Given the description of an element on the screen output the (x, y) to click on. 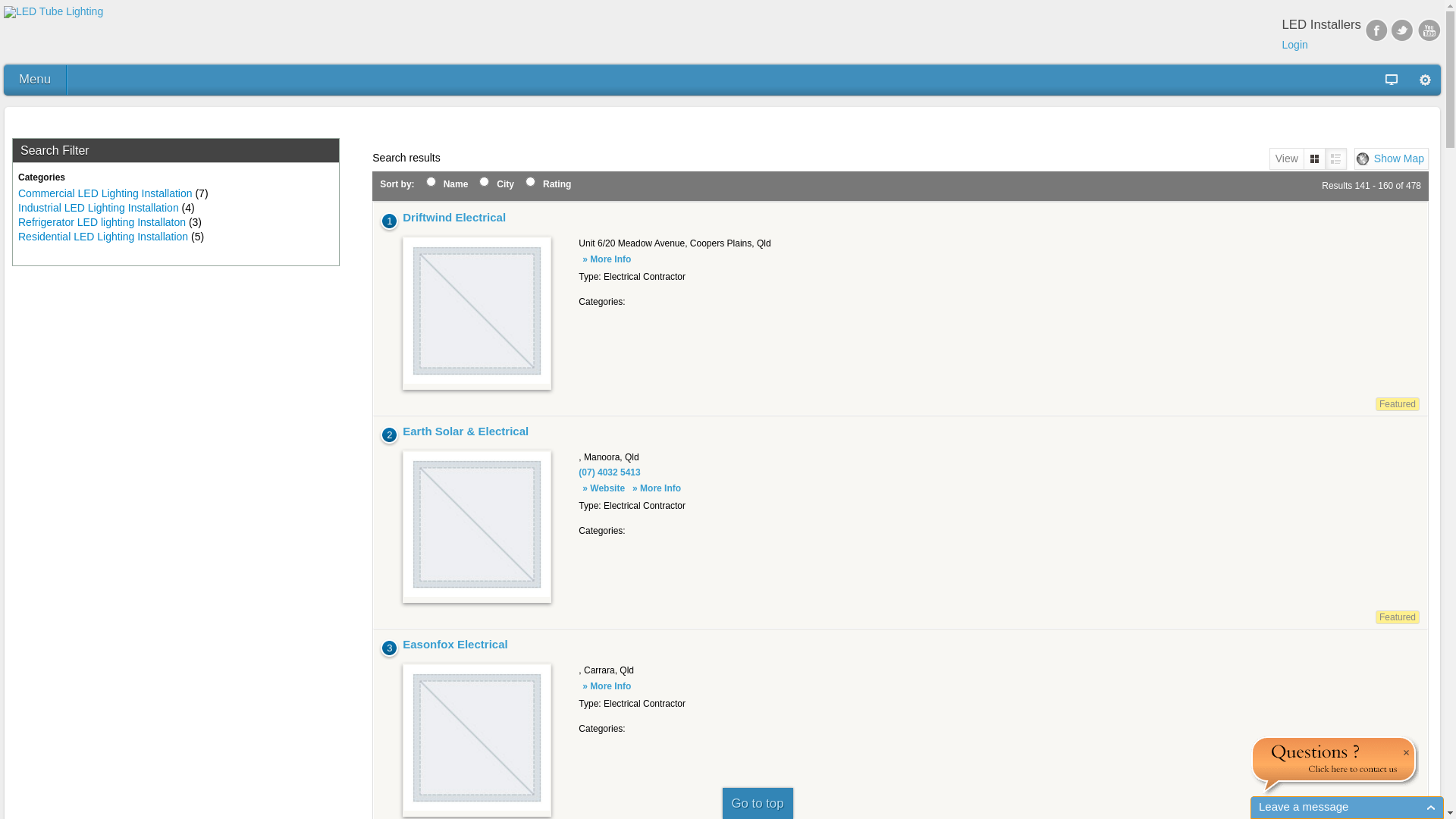
Login Element type: text (1295, 44)
Driftwind Electrical Element type: hover (476, 310)
Commercial LED Lighting Installation Element type: text (105, 193)
Grid Element type: text (1314, 158)
Driftwind Electrical Element type: text (453, 216)
Facebook Element type: text (1376, 29)
YouTube Element type: text (1429, 29)
city asc Element type: text (484, 181)
List Element type: text (1335, 158)
Earth Solar & Electrical Element type: text (465, 430)
Easonfox Electrical Element type: hover (476, 737)
Show Map Element type: text (1391, 158)
Refrigerator LED lighting Installaton Element type: text (101, 222)
averageRating desc Element type: text (530, 181)
Residential LED Lighting Installation Element type: text (103, 236)
Twitter Element type: text (1402, 29)
Industrial LED Lighting Installation Element type: text (98, 207)
Earth Solar & Electrical Element type: hover (476, 524)
companyName Element type: text (431, 181)
(07) 4032 5413 Element type: text (609, 472)
LED Tube Lighting Element type: hover (53, 12)
Easonfox Electrical Element type: text (454, 643)
